Given the description of an element on the screen output the (x, y) to click on. 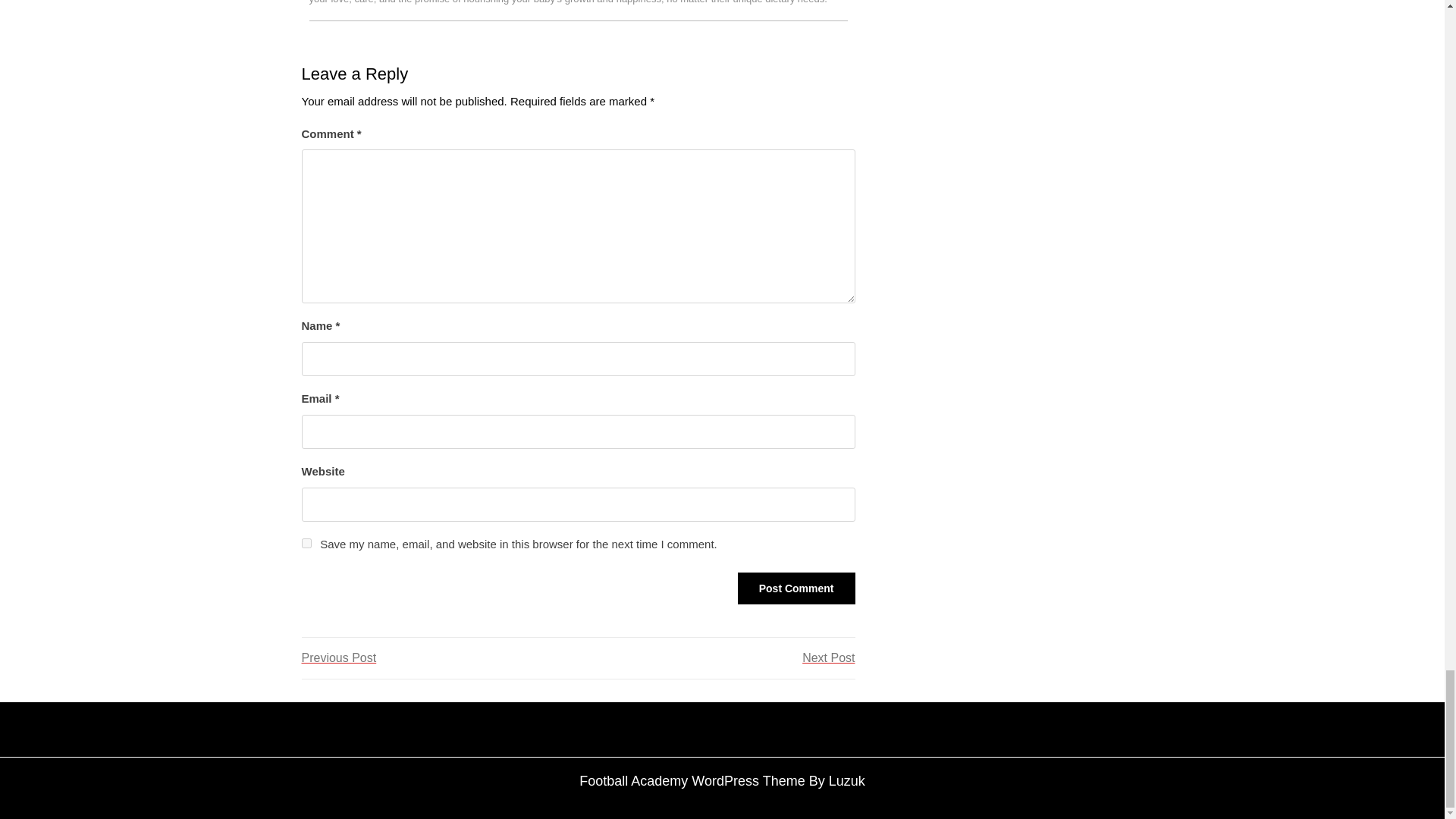
Post Comment (797, 588)
Post Comment (797, 588)
yes (716, 658)
